Given the description of an element on the screen output the (x, y) to click on. 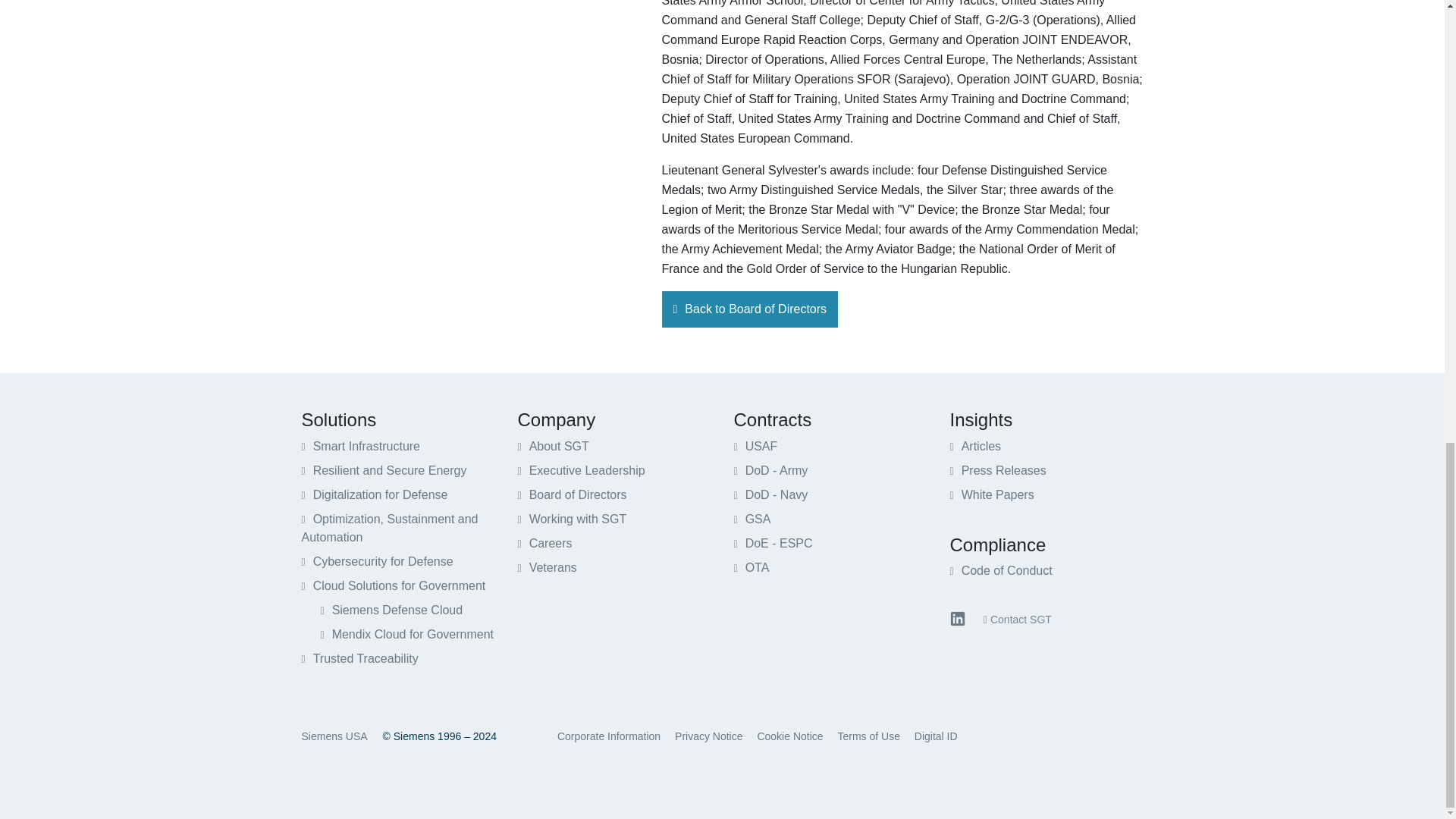
Resilient and Secure Energy (384, 470)
Back to Board of Directors (749, 309)
Smart Infrastructure (360, 445)
Optimization, Sustainment and Automation (390, 527)
Digitalization for Defense (374, 494)
